Given the description of an element on the screen output the (x, y) to click on. 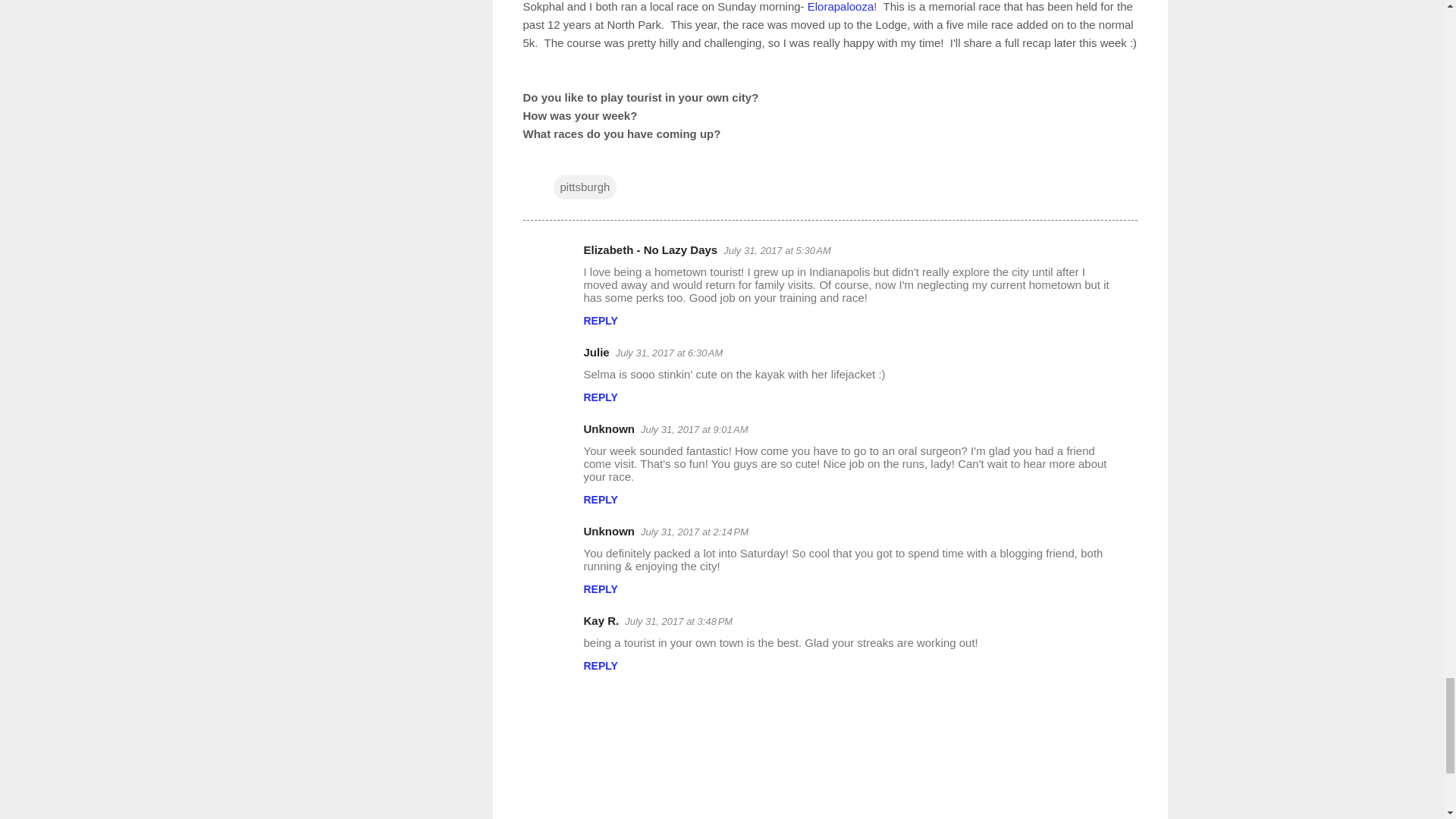
REPLY (600, 320)
pittsburgh (585, 186)
REPLY (600, 397)
Elorapalooza (841, 6)
Elizabeth - No Lazy Days (650, 249)
